Given the description of an element on the screen output the (x, y) to click on. 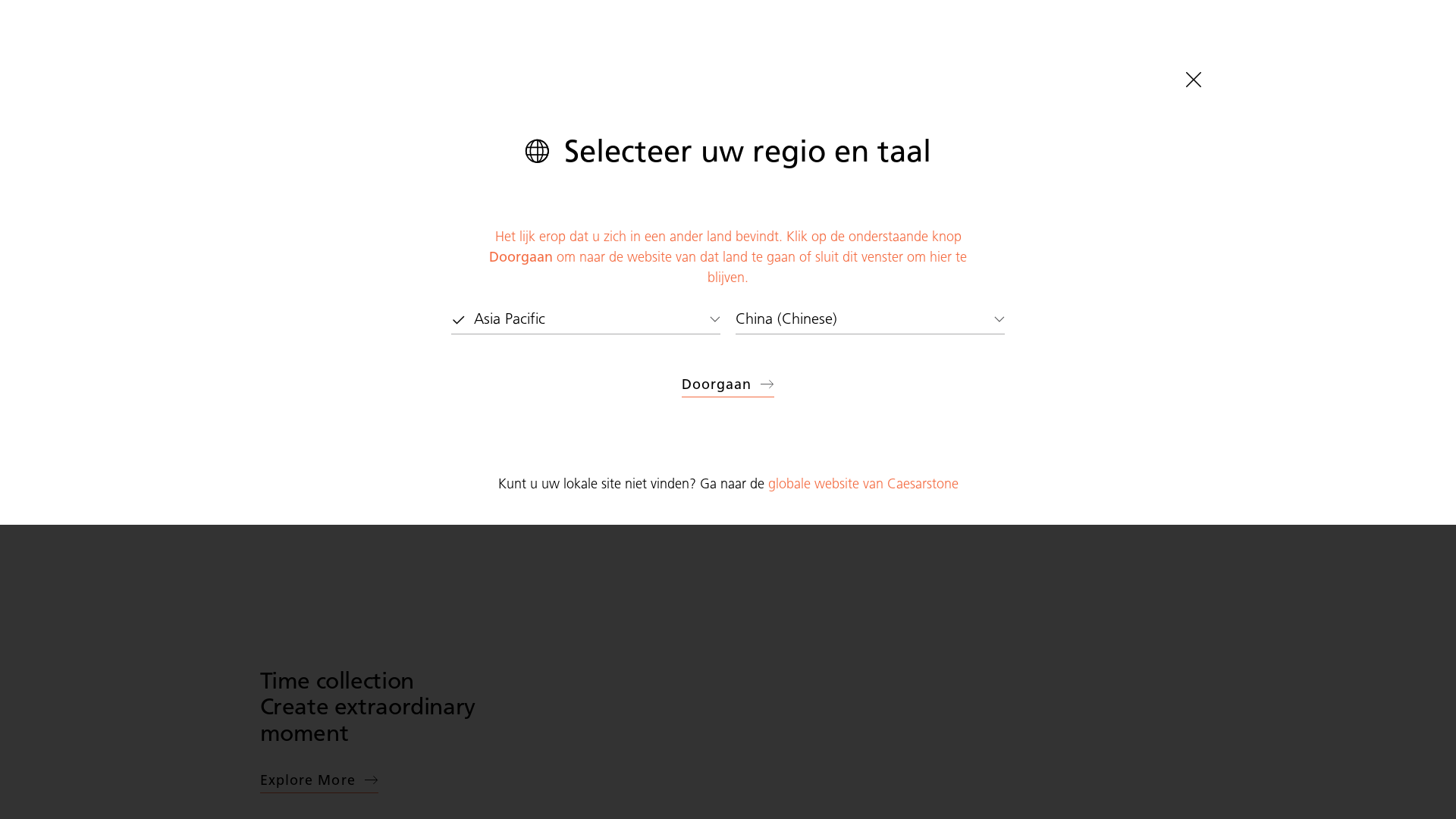
Overslaan naar hoofdinhoud Element type: text (25, 25)
Explore More Element type: text (318, 780)
Caesarstone kiezen Element type: text (695, 68)
Visualisator Element type: text (344, 68)
Kies uw oppervlak Element type: text (95, 68)
Zoeken Element type: text (924, 432)
Doorgaan Element type: text (727, 385)
Professionele Element type: text (1266, 31)
Zien en kopen Element type: text (445, 68)
Ontwerpinspiratie Element type: text (232, 68)
Sorteren Op Element type: text (1155, 432)
globale website van Caesarstone Element type: text (862, 483)
Ondersteuning Element type: text (563, 68)
: Element type: text (1328, 31)
Startpagina Element type: text (60, 117)
Filters Element type: text (1023, 432)
